Given the description of an element on the screen output the (x, y) to click on. 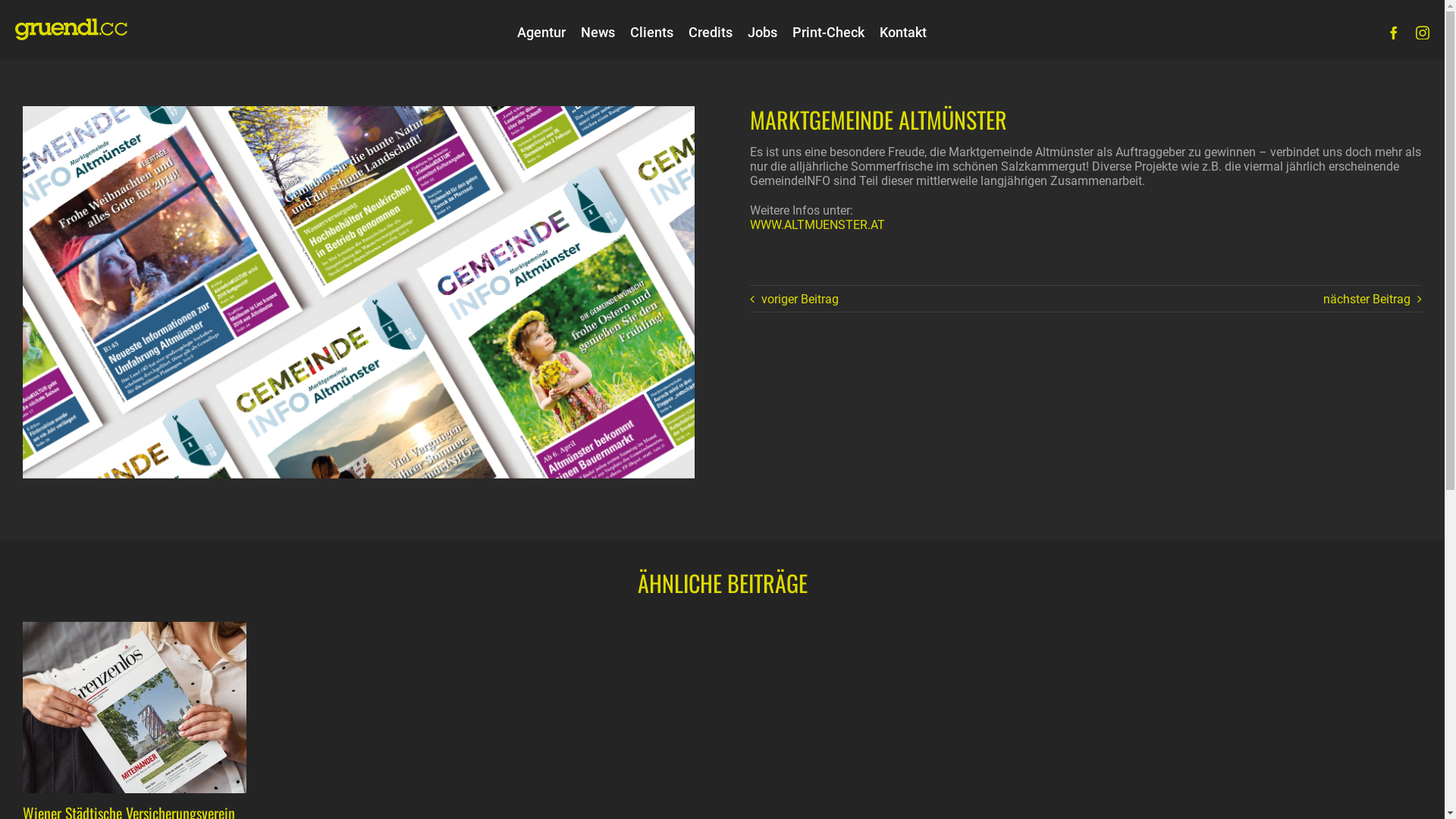
Credits Element type: text (710, 32)
WWW.ALTMUENSTER.AT Element type: text (816, 224)
Clients Element type: text (651, 32)
Jobs Element type: text (762, 32)
Kontakt Element type: text (902, 32)
Print-Check Element type: text (828, 32)
news-gemeindealtmuenster-01 Element type: hover (358, 292)
News Element type: text (597, 32)
Agentur Element type: text (541, 32)
